Given the description of an element on the screen output the (x, y) to click on. 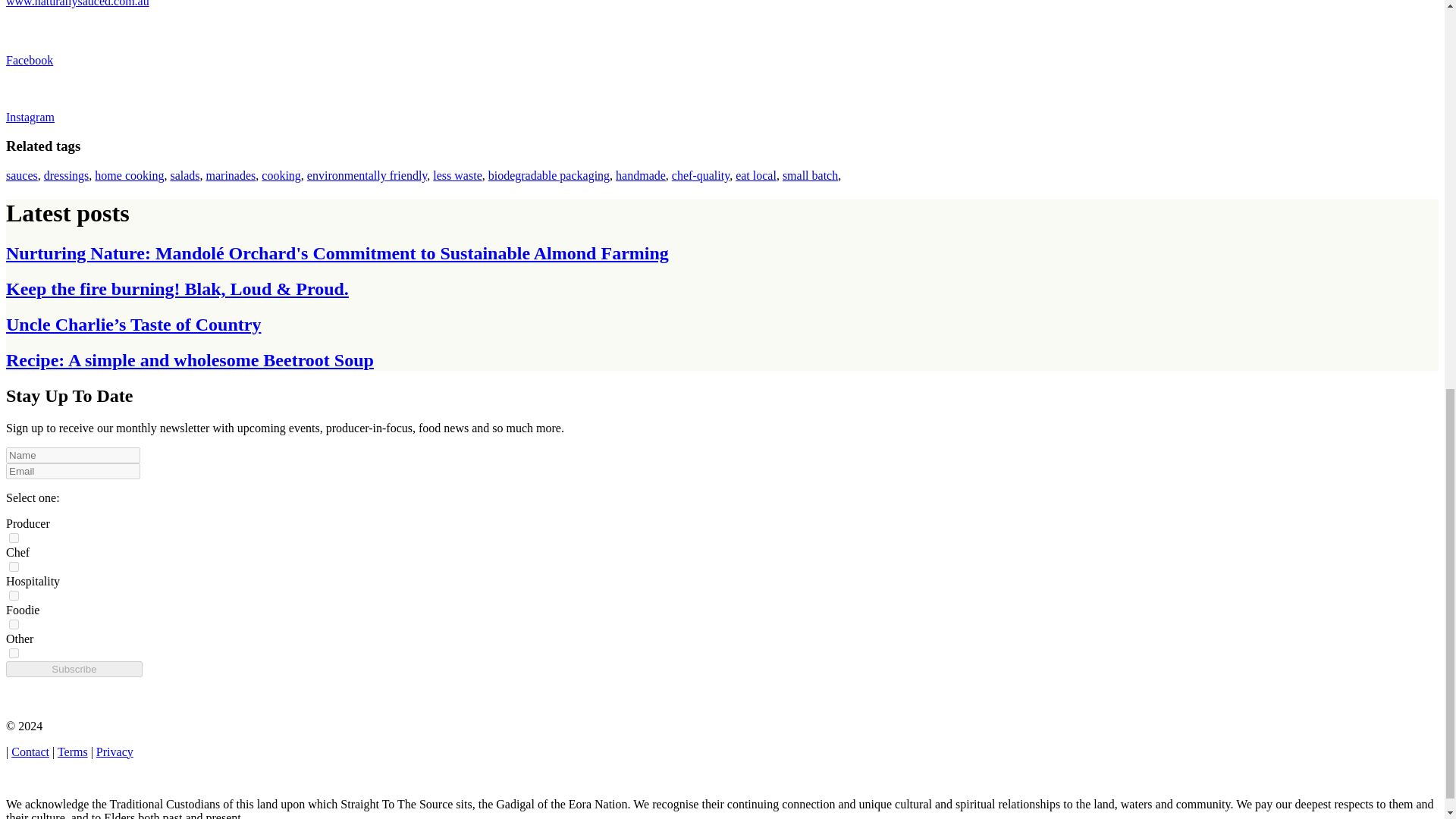
salads (184, 174)
biodegradable packaging (548, 174)
on (13, 653)
cooking (281, 174)
chef-quality (700, 174)
home cooking (128, 174)
on (13, 566)
on (13, 537)
dressings (65, 174)
sauces (21, 174)
